Given the description of an element on the screen output the (x, y) to click on. 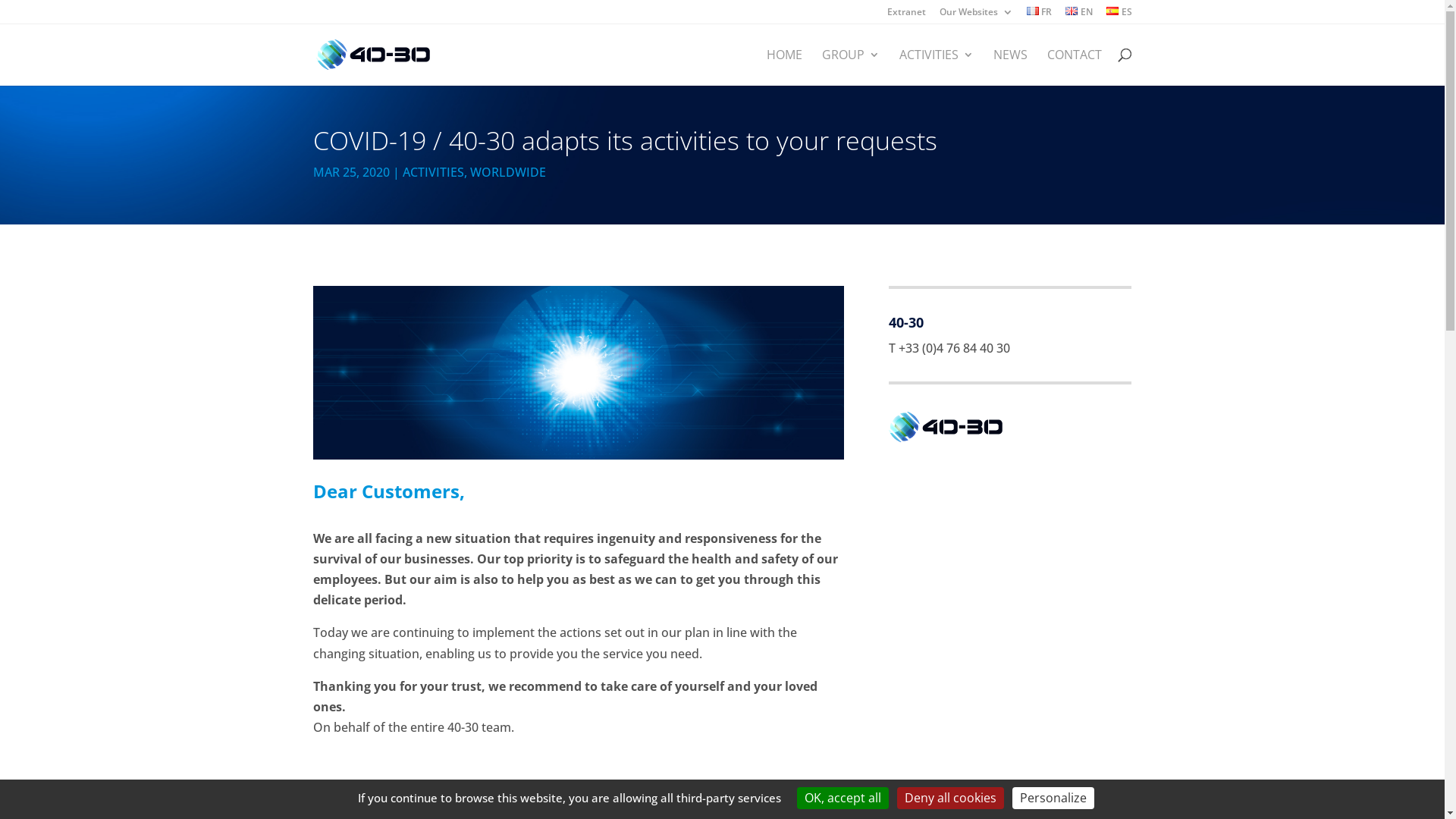
CONTACT Element type: text (1073, 66)
FR Element type: text (1039, 14)
COVID-19 / 40-30 adapts its activities to your requests Element type: hover (577, 372)
ACTIVITIES Element type: text (432, 171)
FR Element type: hover (1032, 10)
ES Element type: hover (1112, 10)
WORLDWIDE Element type: text (508, 171)
Extranet Element type: text (906, 15)
ACTIVITIES Element type: text (936, 66)
EN Element type: hover (1071, 10)
GROUP Element type: text (850, 66)
ES Element type: text (1119, 14)
Deny all cookies Element type: text (950, 798)
NEWS Element type: text (1010, 66)
Our Websites Element type: text (976, 15)
EN Element type: text (1078, 14)
HOME Element type: text (783, 66)
OK, accept all Element type: text (842, 798)
Personalize Element type: text (1053, 798)
